Given the description of an element on the screen output the (x, y) to click on. 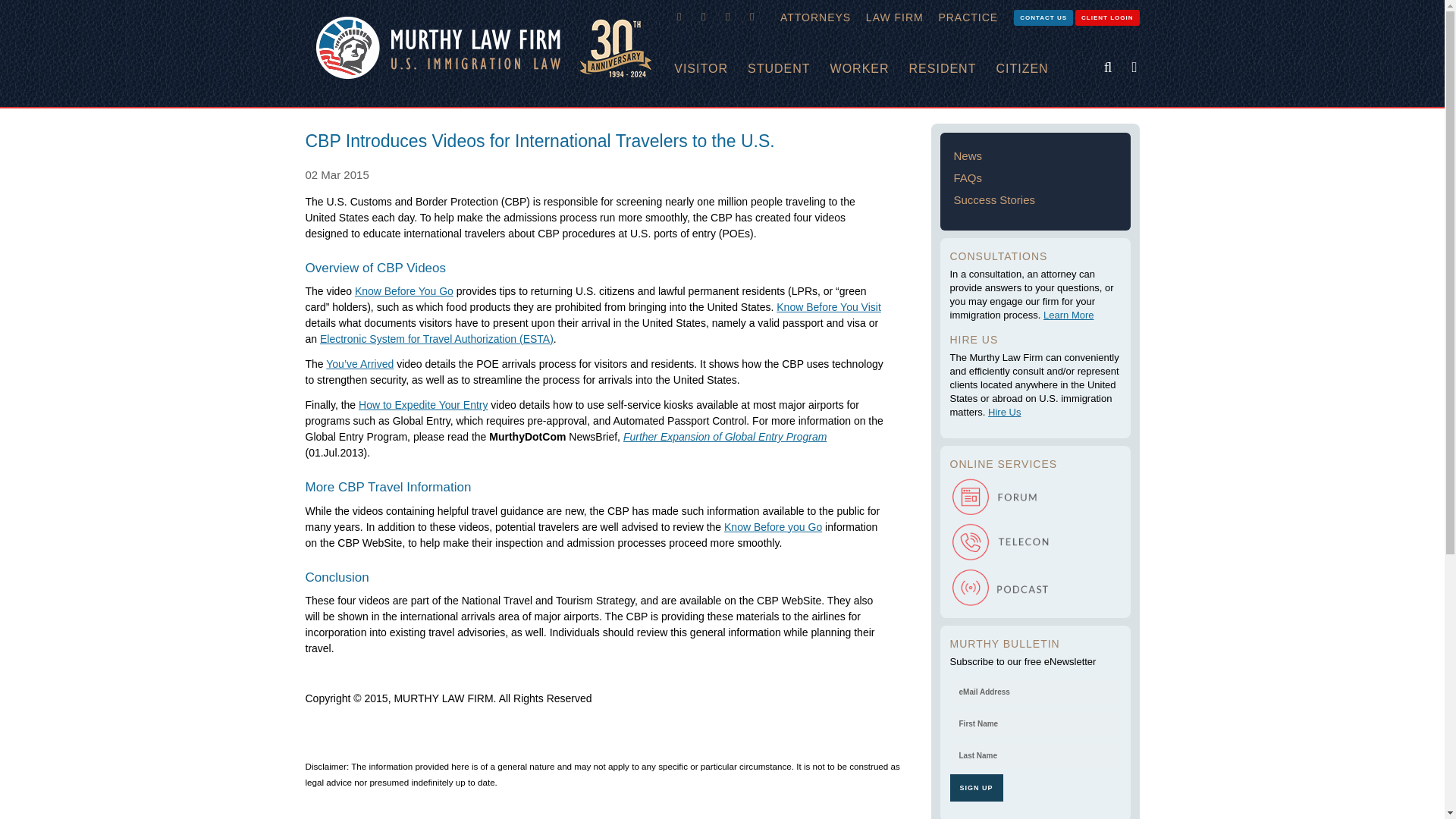
MurthyDotCom NewsBrief (725, 436)
PRACTICE (967, 17)
CONTACT US (1043, 17)
ATTORNEYS (815, 17)
RESIDENT (951, 69)
U.S. CBP ESTA (436, 338)
Sign up (976, 787)
U.S. CBP video gallery (403, 291)
U.S. CBP video (828, 306)
U.S. CBP (772, 526)
U.S. CBP video (359, 363)
STUDENT (788, 69)
LAW FIRM (895, 17)
U.S. CBP video (422, 404)
CLIENT LOGIN (1106, 17)
